Given the description of an element on the screen output the (x, y) to click on. 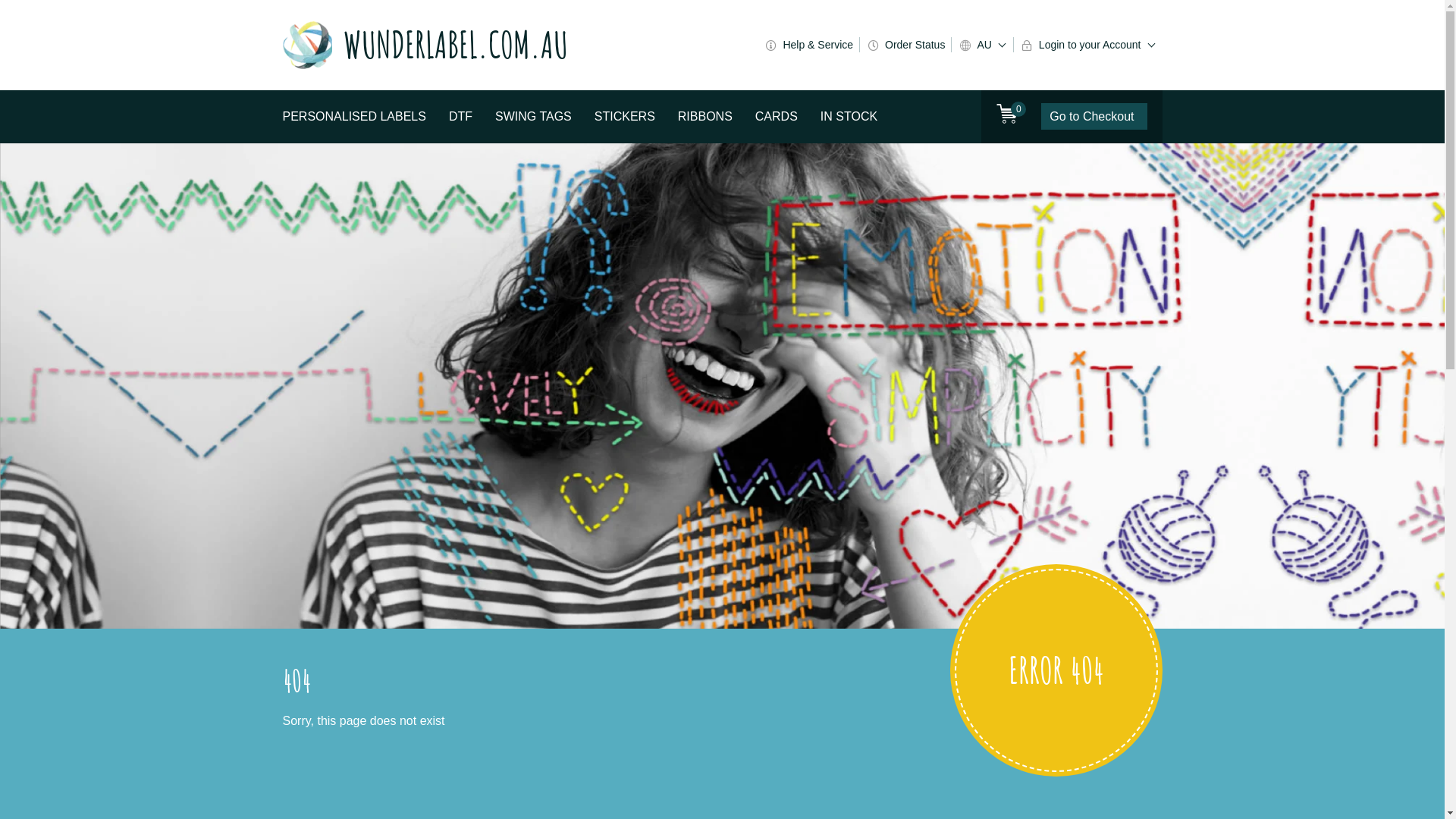
SWING TAGS Element type: text (533, 116)
0 Element type: text (1007, 115)
WUNDERLABEL.COM.AU Element type: text (466, 44)
DTF Element type: text (460, 116)
Order Status Element type: text (905, 44)
PERSONALISED LABELS Element type: text (353, 116)
IN STOCK Element type: text (848, 116)
Help & Service Element type: text (808, 44)
RIBBONS Element type: text (704, 116)
STICKERS Element type: text (624, 116)
CARDS Element type: text (776, 116)
Login to your Account Element type: text (1087, 44)
Go to Checkout Element type: text (1093, 116)
